Given the description of an element on the screen output the (x, y) to click on. 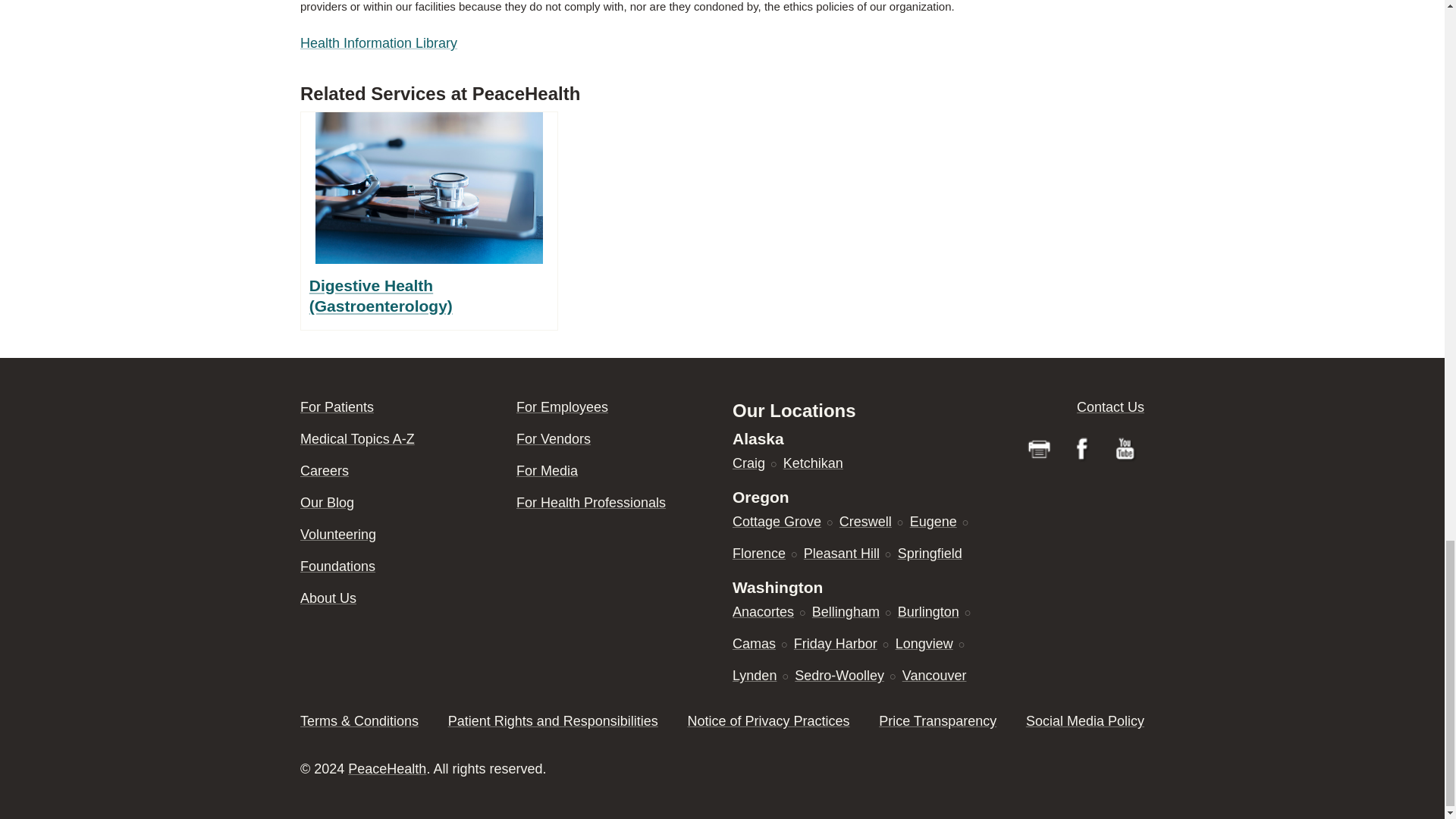
Employee portal for PeaceHealth Caregivers (562, 406)
Information for vendors (553, 438)
